Given the description of an element on the screen output the (x, y) to click on. 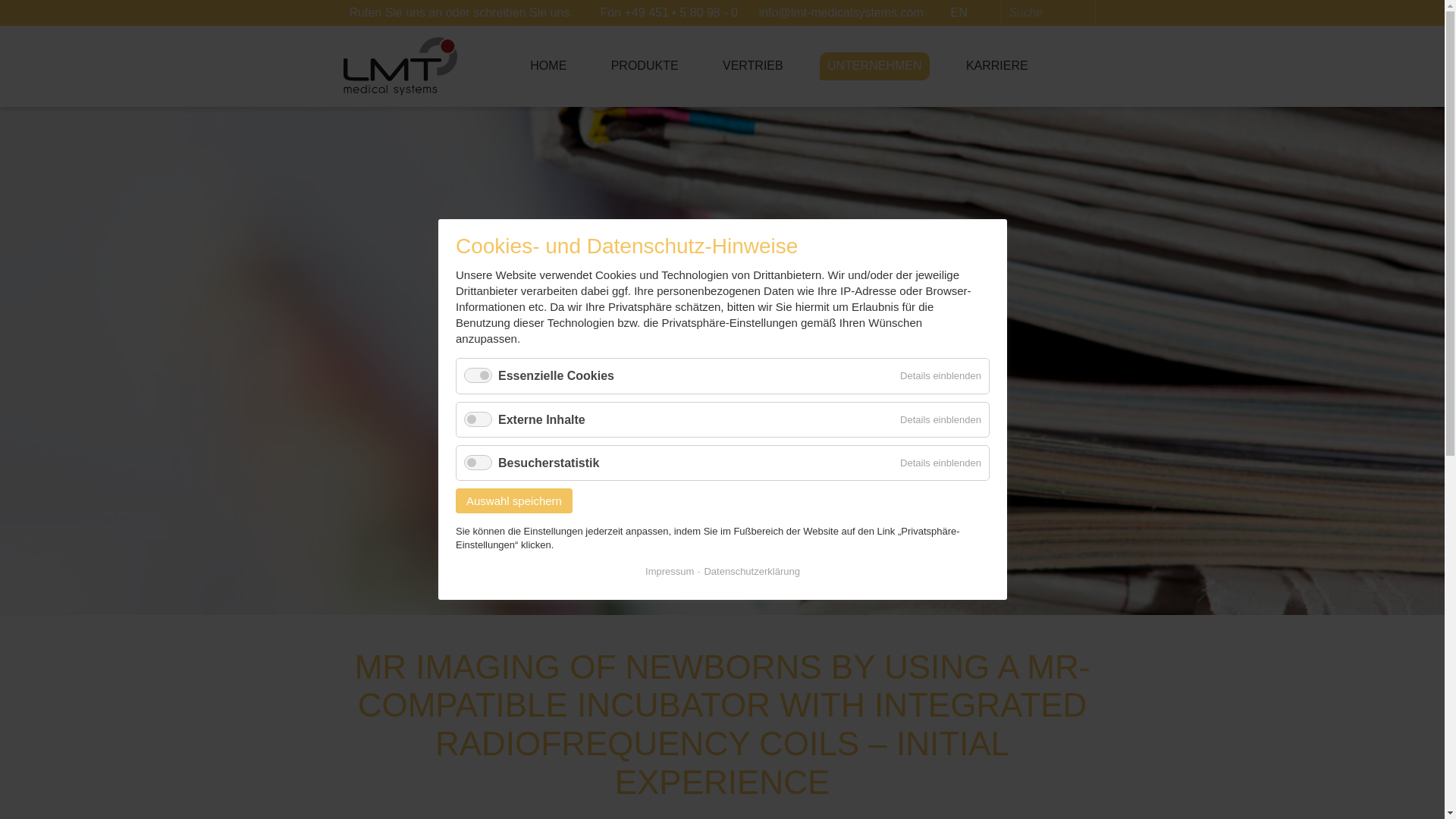
Vertrieb (752, 65)
HOME (547, 65)
UNTERNEHMEN (873, 65)
VERTRIEB (752, 65)
Publication (959, 11)
PRODUKTE (644, 65)
KARRIERE (996, 65)
Jobs (996, 65)
Unternehmen (873, 65)
Produkte (644, 65)
